Given the description of an element on the screen output the (x, y) to click on. 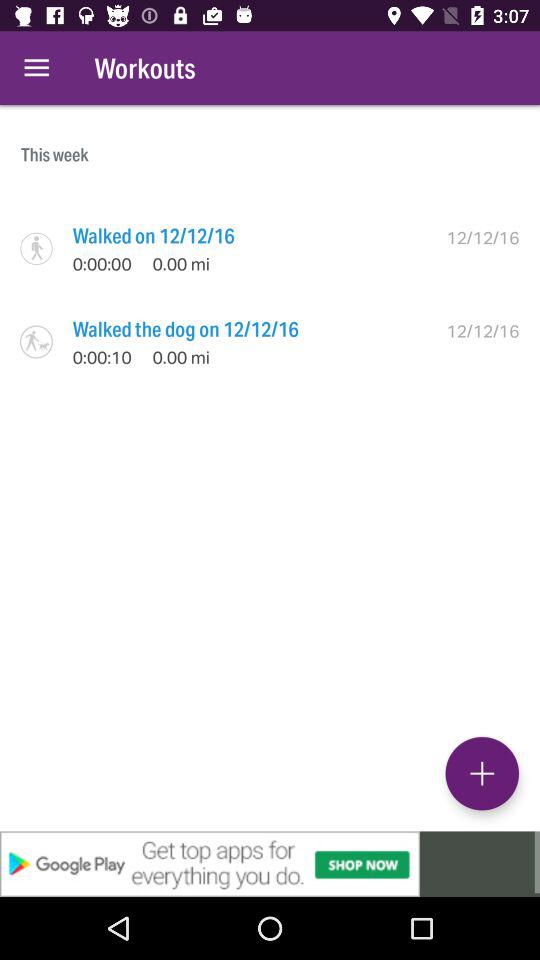
enter new workout (482, 773)
